Given the description of an element on the screen output the (x, y) to click on. 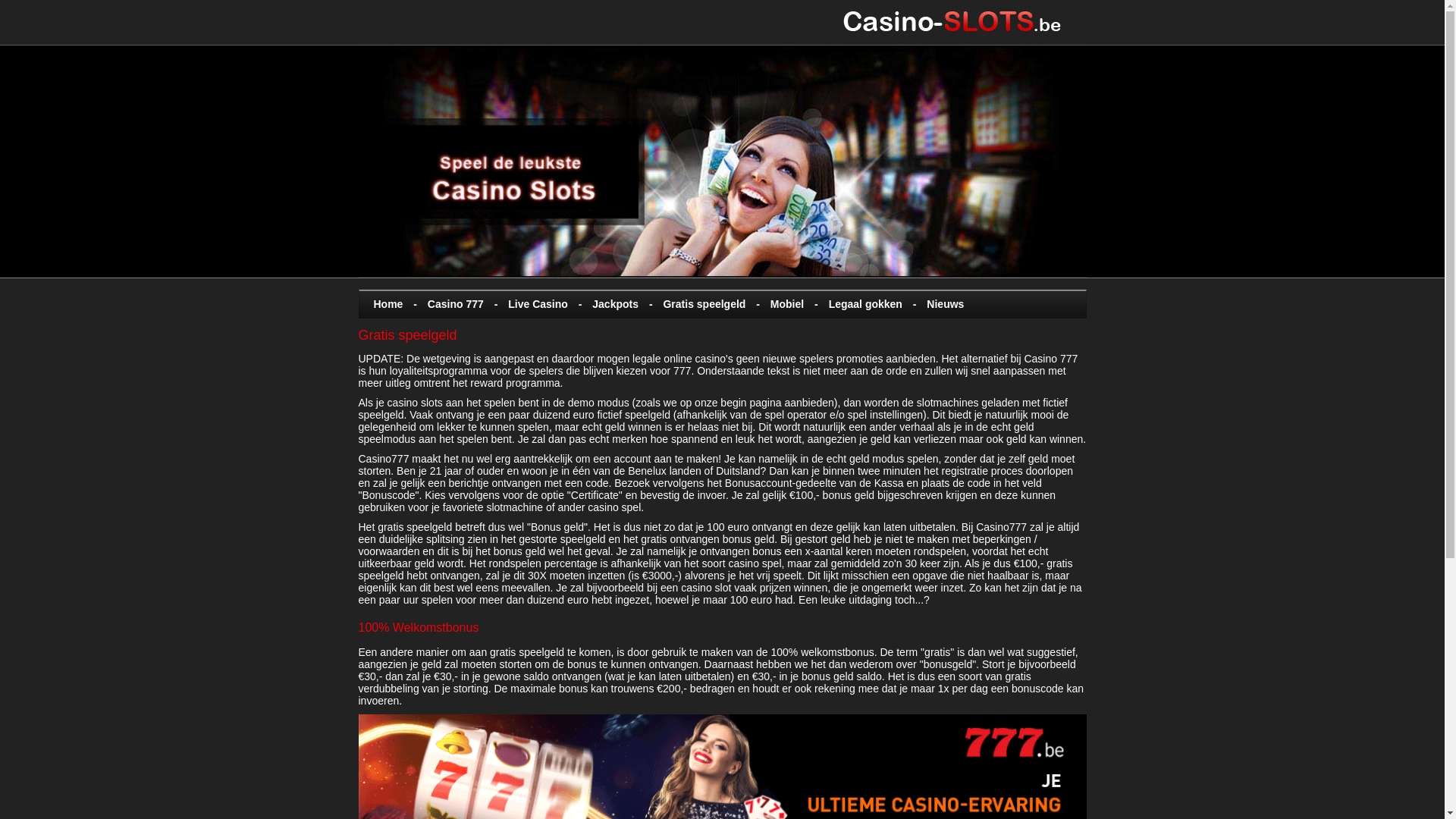
Live Casino Element type: text (534, 303)
Casino 777 Element type: text (452, 303)
gratis casino slots spelen Element type: hover (963, 22)
Home Element type: text (383, 303)
Legaal gokken Element type: text (862, 303)
Mobiel Element type: text (783, 303)
Nieuws Element type: text (942, 303)
Jackpots Element type: text (612, 303)
Gratis speelgeld Element type: text (701, 303)
